Given the description of an element on the screen output the (x, y) to click on. 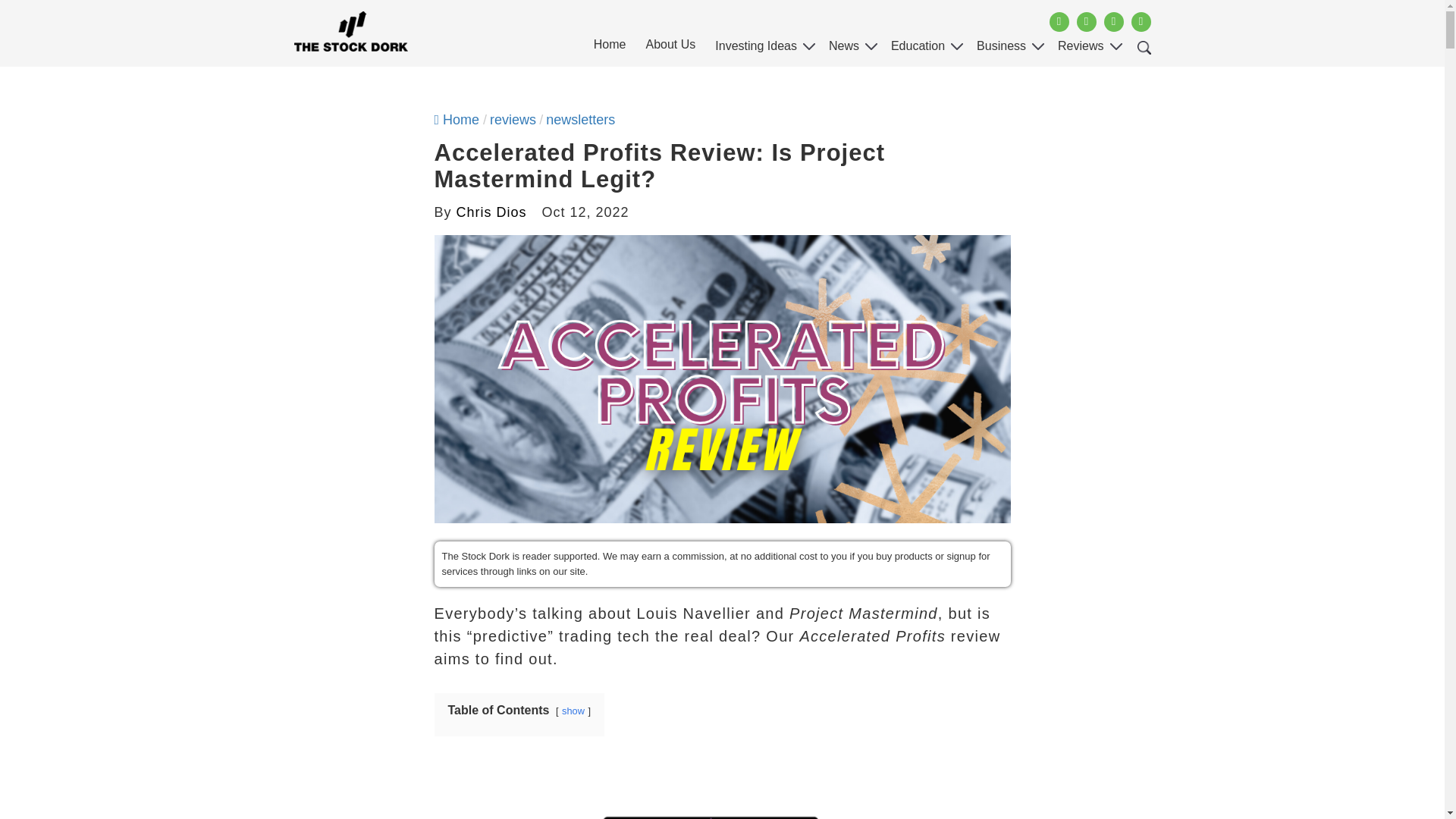
Home (609, 48)
Category Name (512, 119)
Chris Dios (492, 212)
Investing Ideas (756, 50)
Reviews (1080, 50)
show (573, 710)
News (843, 50)
reviews (512, 119)
Business (1001, 50)
About Us (670, 48)
newsletters (580, 119)
newsletters (580, 119)
Education (917, 50)
Home (456, 119)
